Given the description of an element on the screen output the (x, y) to click on. 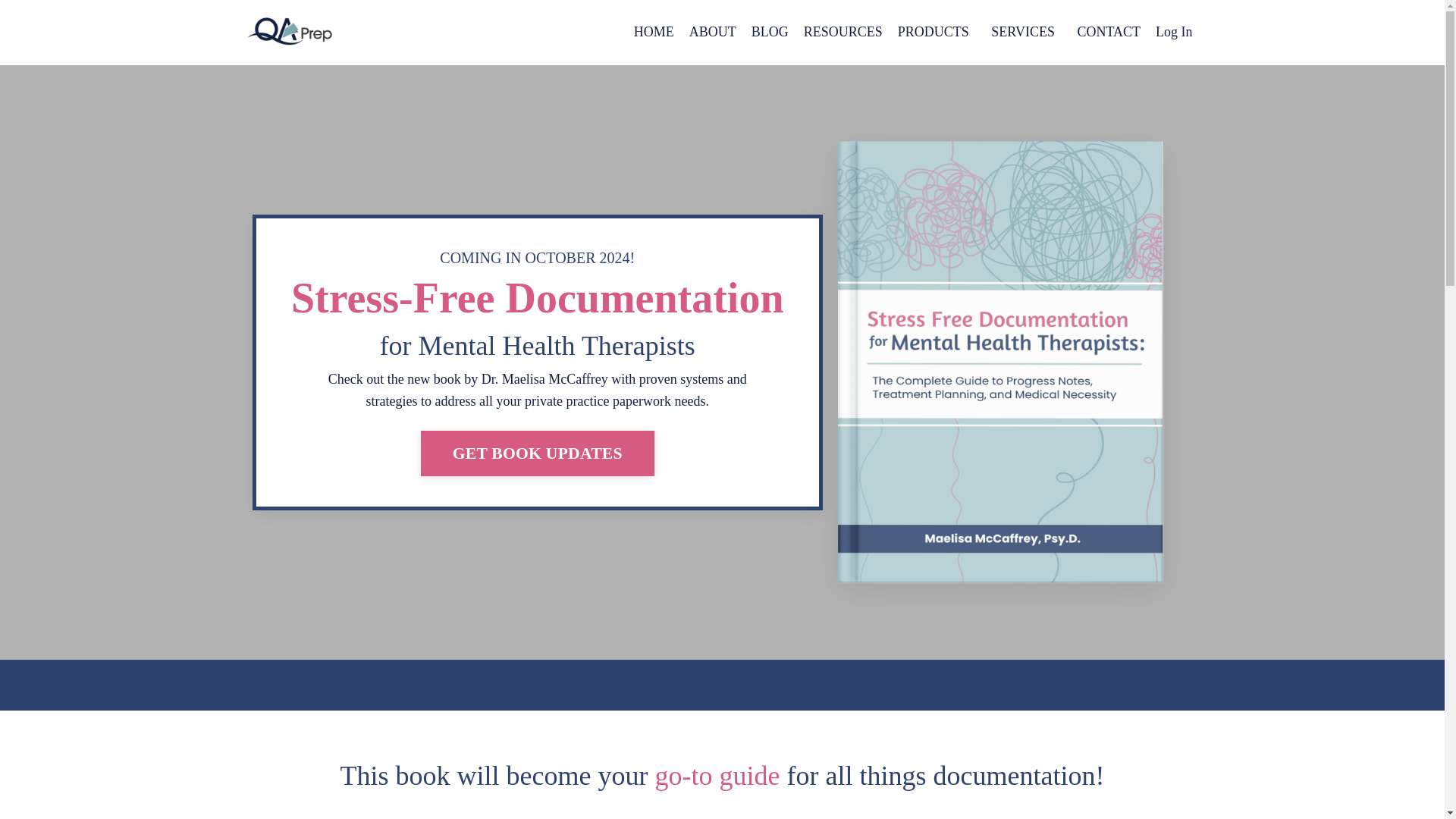
Log In (1174, 31)
RESOURCES (842, 32)
PRODUCTS (937, 32)
SERVICES (1026, 32)
GET BOOK UPDATES (536, 452)
HOME (653, 32)
BLOG (770, 32)
CONTACT (1108, 32)
ABOUT (712, 32)
